Given the description of an element on the screen output the (x, y) to click on. 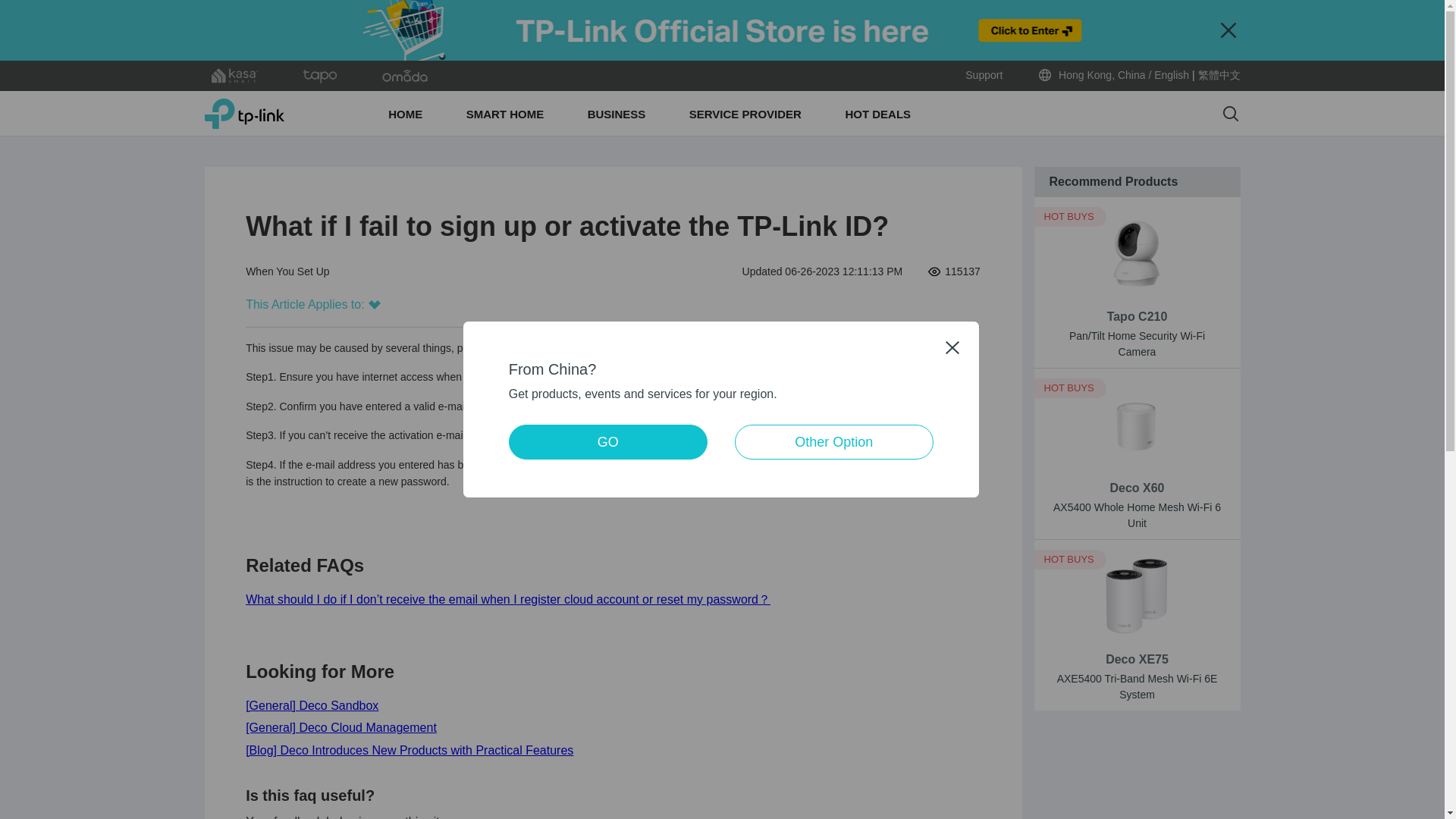
kasa (234, 75)
omada (404, 75)
Support (984, 75)
tapo (319, 75)
Search (1230, 113)
TP-Link, Reliably Smart (244, 113)
